Given the description of an element on the screen output the (x, y) to click on. 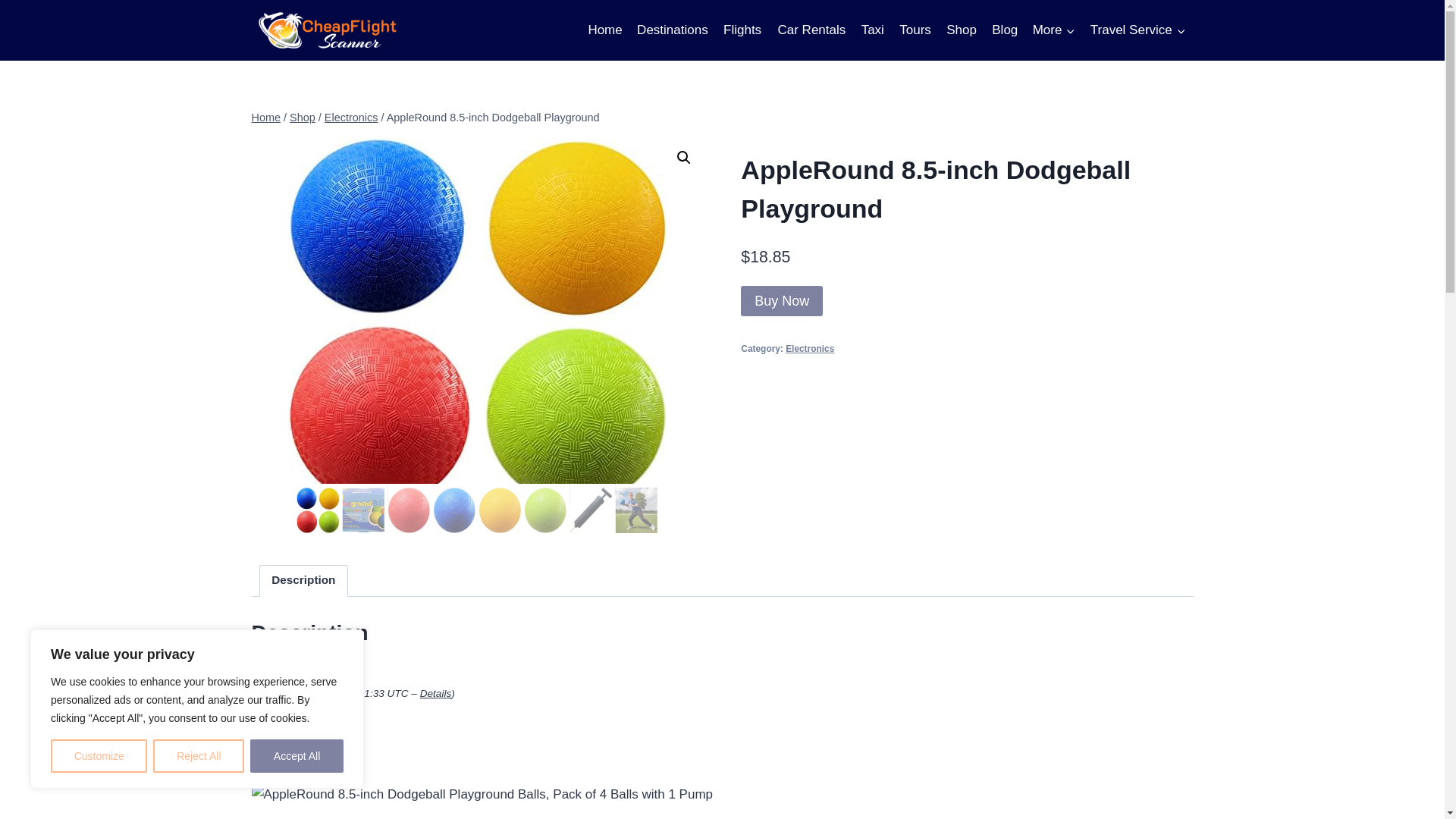
Home (604, 30)
Blog (1004, 30)
Flights (742, 30)
Tours (915, 30)
Car Rentals (811, 30)
Destinations (672, 30)
Accept All (296, 756)
Shop (961, 30)
Customize (98, 756)
Travel Service (1137, 30)
Taxi (872, 30)
More (1054, 30)
Reject All (198, 756)
